Given the description of an element on the screen output the (x, y) to click on. 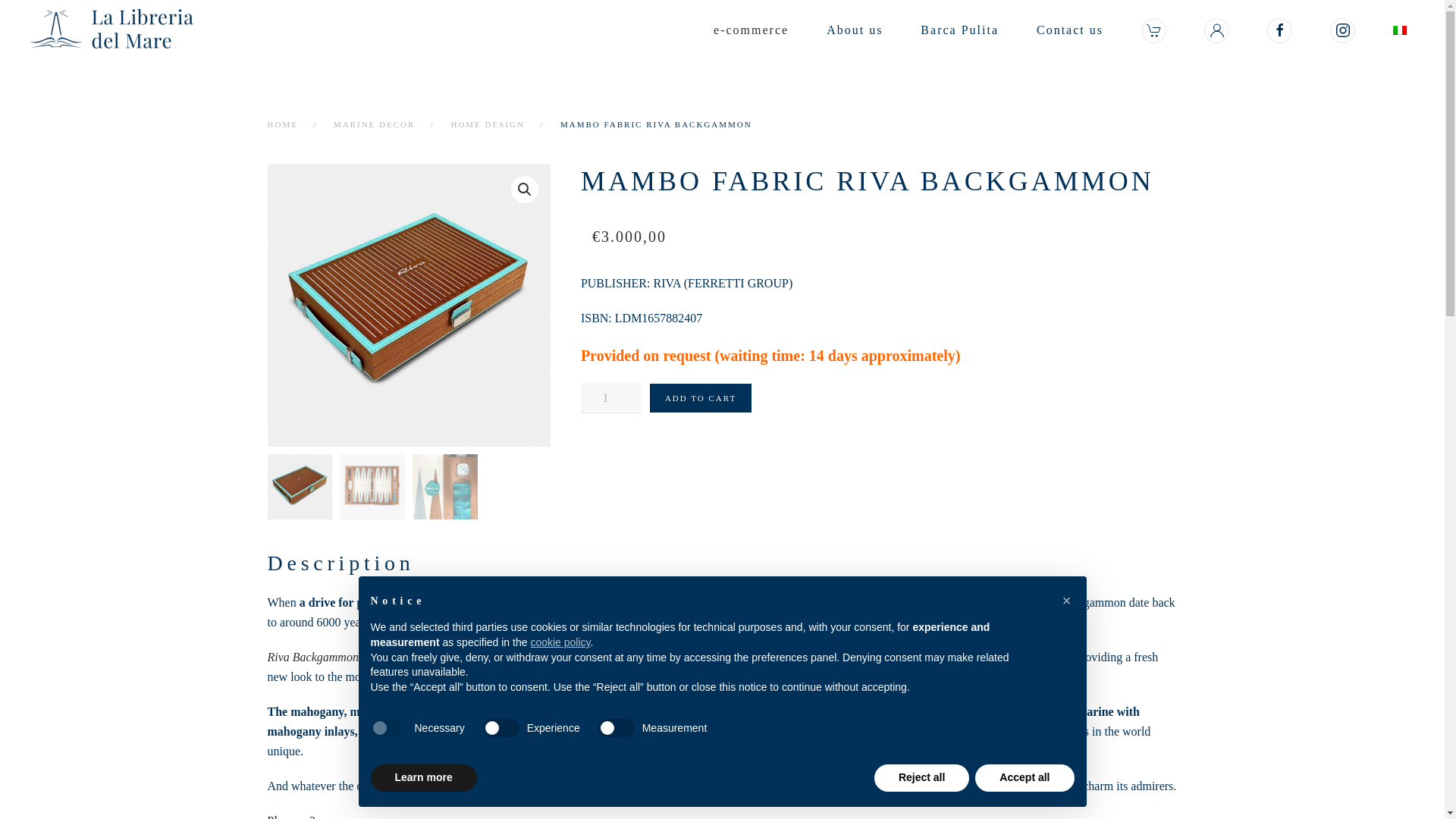
true (387, 728)
false (501, 728)
MARINE DECOR (373, 123)
backgammon-riba-in-tessuto-mambo-ferretti-01-2.jpg (691, 304)
ADD TO CART (700, 398)
Barca Pulita (959, 30)
Contact us (1069, 30)
false (616, 728)
HOME DESIGN (486, 123)
1 (611, 398)
backgammon-riva-in-tessuto-mambo-riva-ferretti-8.jpg (408, 304)
e-commerce (751, 30)
About us (853, 30)
HOME (281, 123)
